Given the description of an element on the screen output the (x, y) to click on. 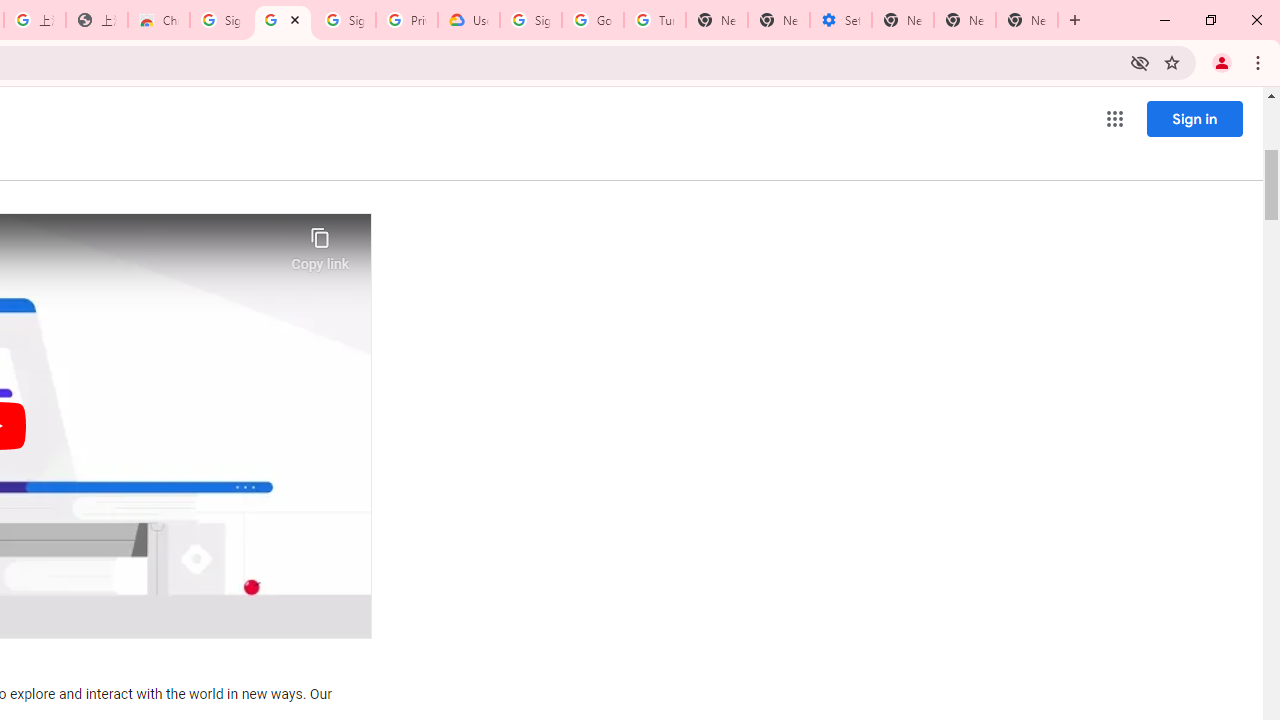
New Tab (716, 20)
Chrome Web Store - Color themes by Chrome (158, 20)
New Tab (1026, 20)
Sign in - Google Accounts (220, 20)
